Given the description of an element on the screen output the (x, y) to click on. 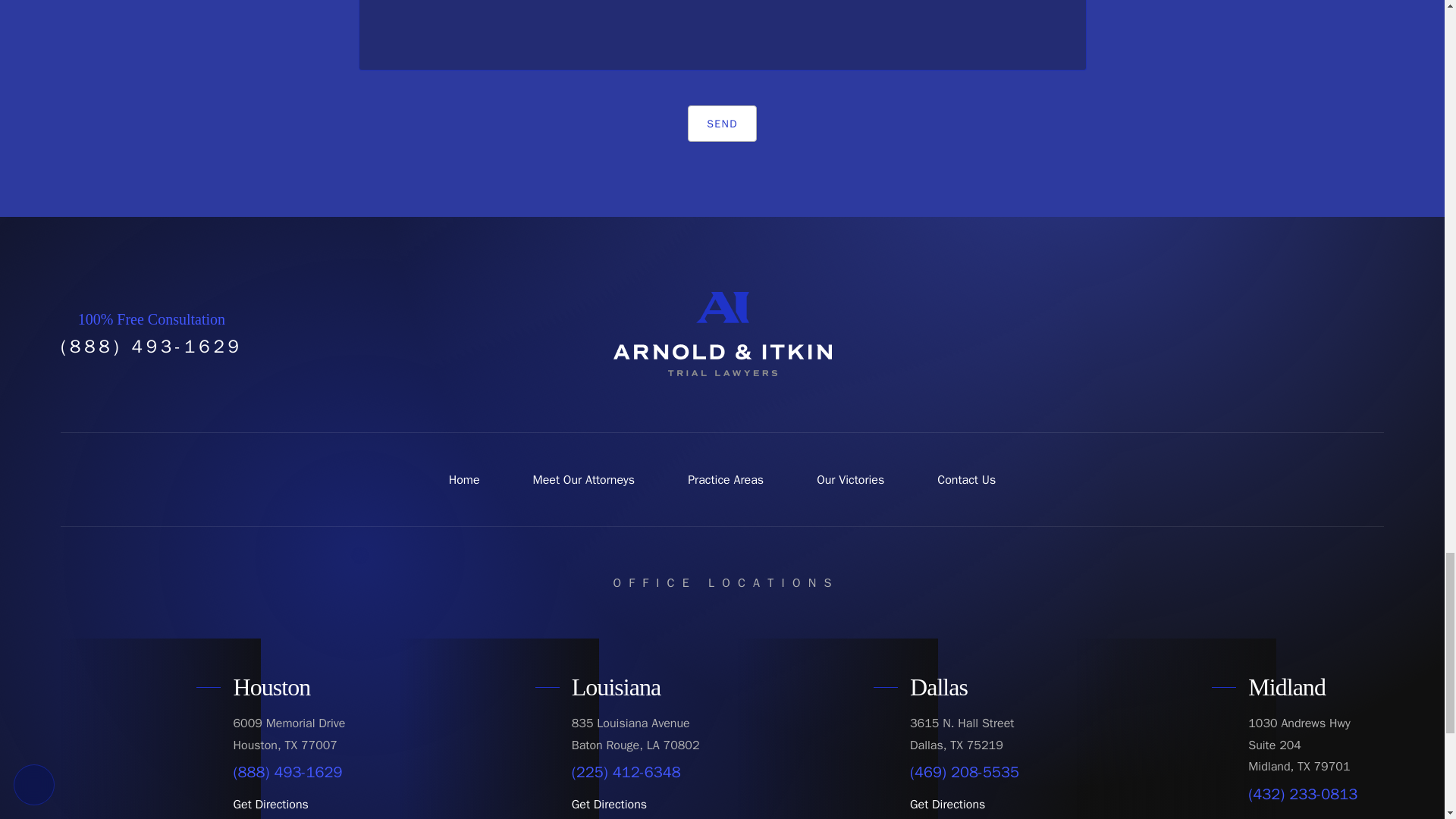
Instagram (1331, 333)
Twitter (1261, 333)
YouTube (1296, 333)
LinkedIn (1366, 333)
Facebook (1227, 333)
